Given the description of an element on the screen output the (x, y) to click on. 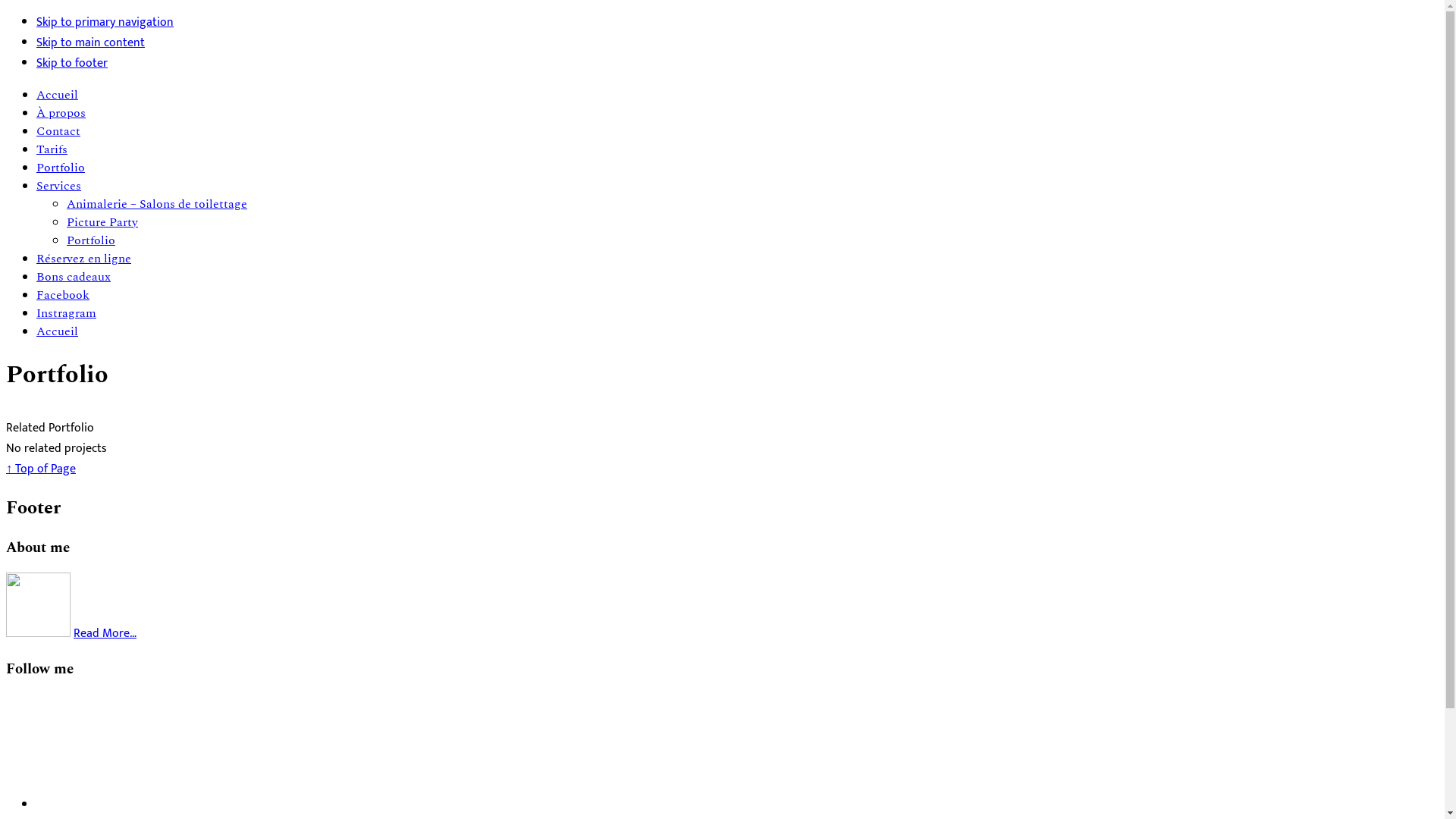
Contact Element type: text (58, 131)
Instragram Element type: text (66, 313)
Portfolio Element type: text (60, 167)
Skip to footer Element type: text (71, 63)
Bons cadeaux Element type: text (73, 276)
Skip to main content Element type: text (90, 42)
Accueil Element type: text (57, 94)
Picture Party Element type: text (102, 222)
Services Element type: text (58, 185)
Portfolio Element type: text (90, 240)
Facebook Element type: text (62, 294)
Tarifs Element type: text (51, 149)
Skip to primary navigation Element type: text (104, 22)
Accueil Element type: text (57, 331)
